Given the description of an element on the screen output the (x, y) to click on. 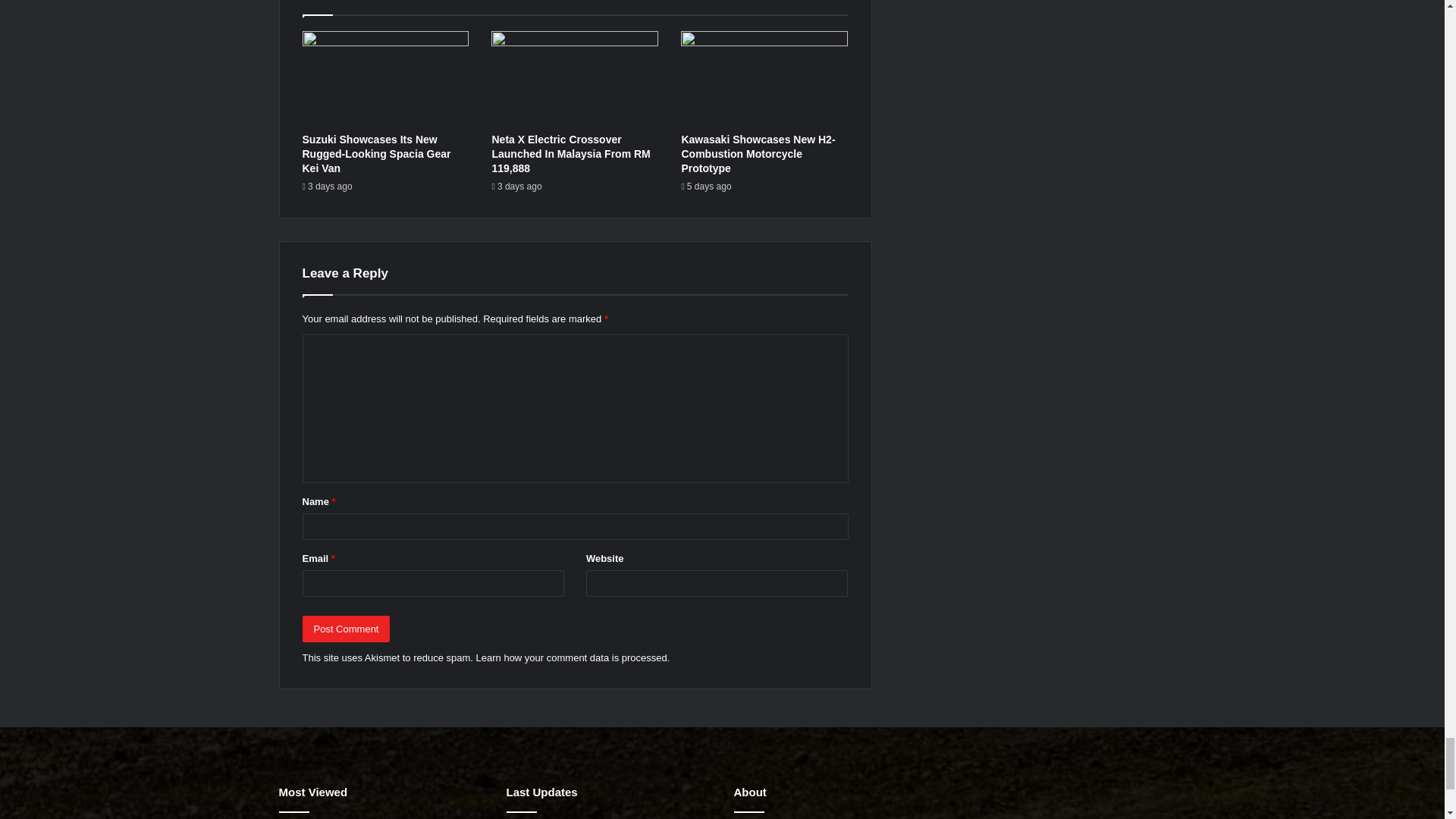
Post Comment (345, 628)
